Given the description of an element on the screen output the (x, y) to click on. 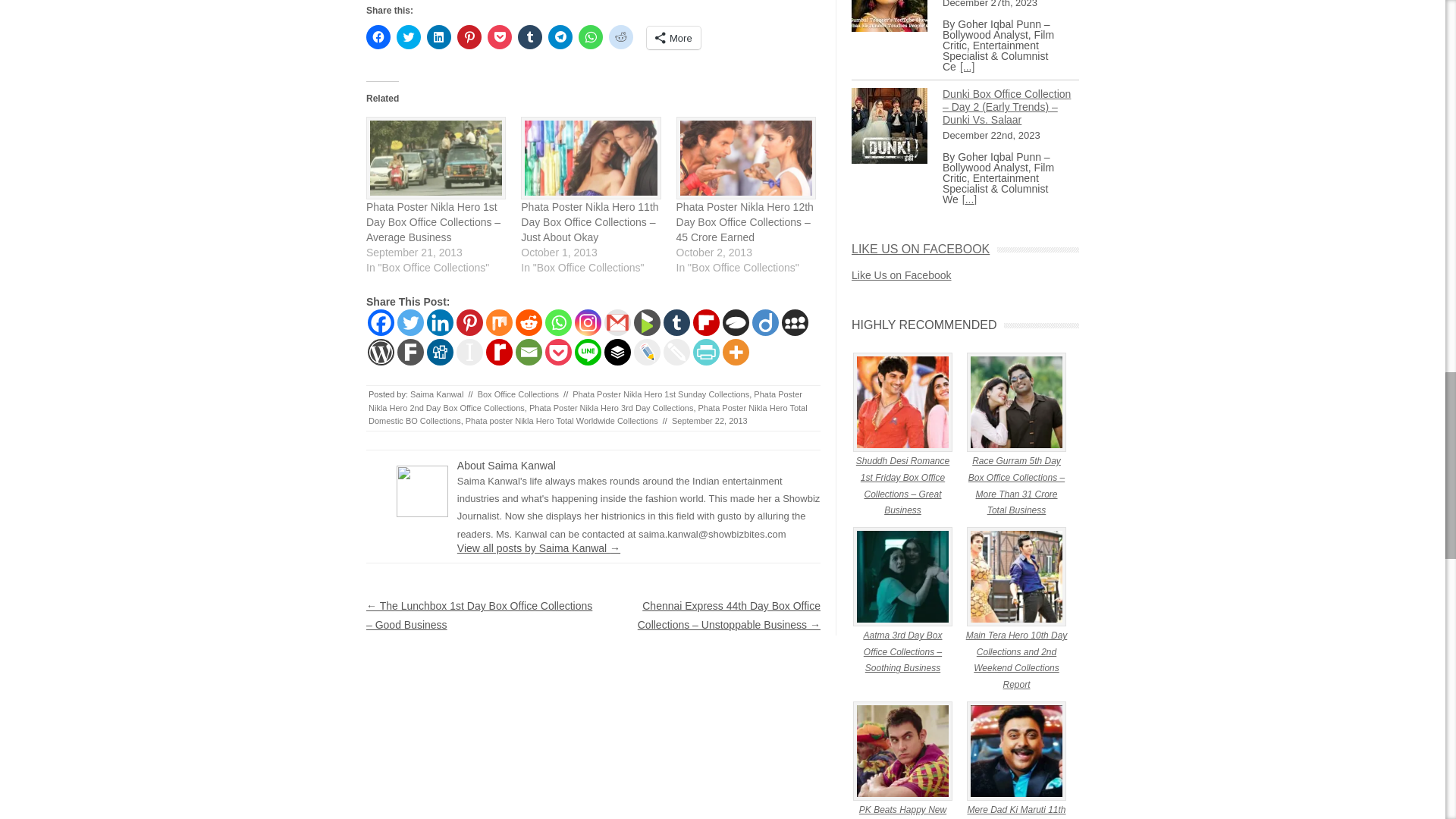
Click to share on Tumblr (529, 37)
Click to share on Pocket (499, 37)
Click to share on Facebook (378, 37)
Click to share on Telegram (560, 37)
Click to share on LinkedIn (438, 37)
Click to share on Twitter (408, 37)
More (673, 37)
Click to share on Pinterest (469, 37)
Click to share on WhatsApp (590, 37)
